Given the description of an element on the screen output the (x, y) to click on. 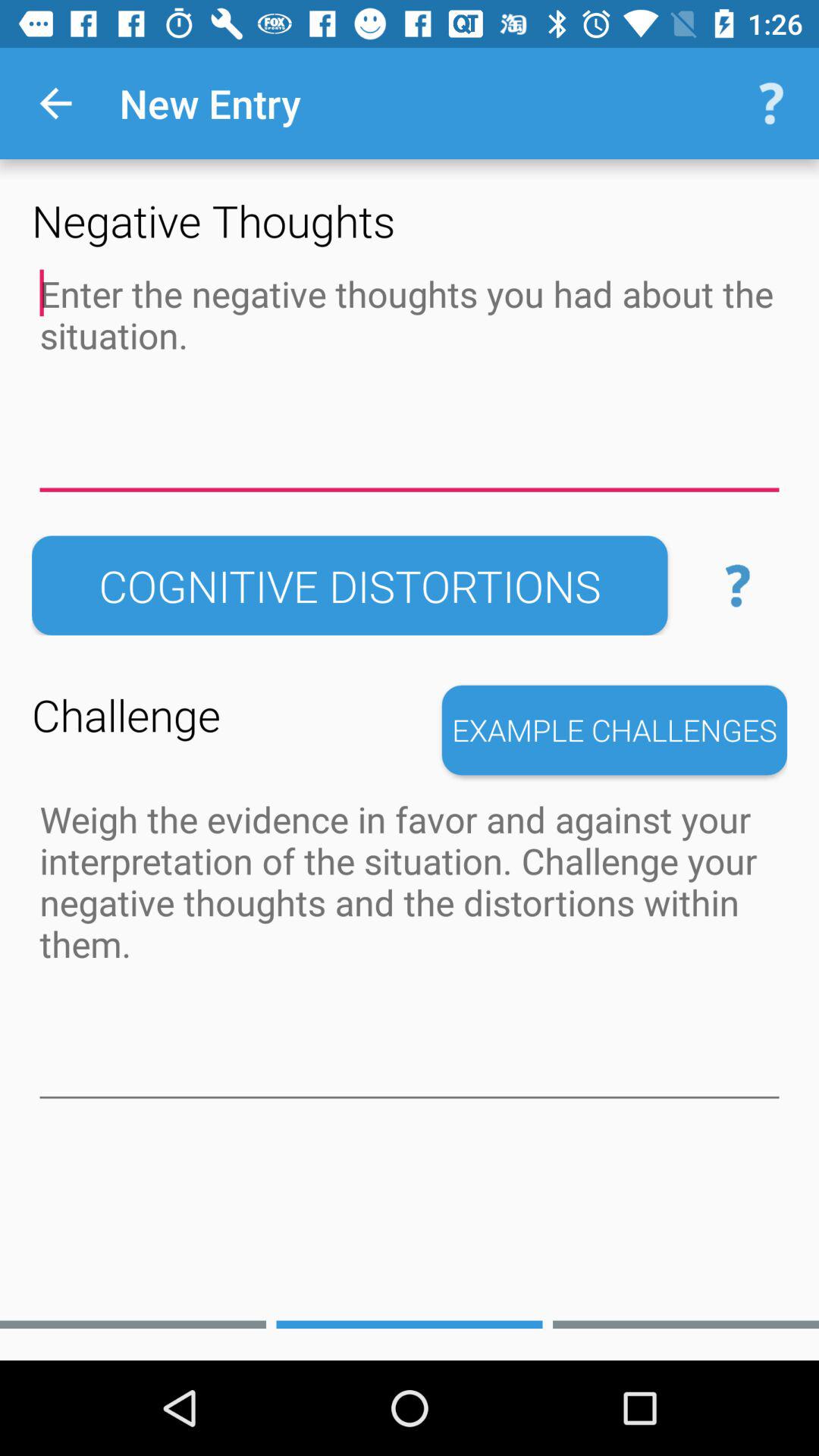
jump to the example challenges icon (614, 730)
